Given the description of an element on the screen output the (x, y) to click on. 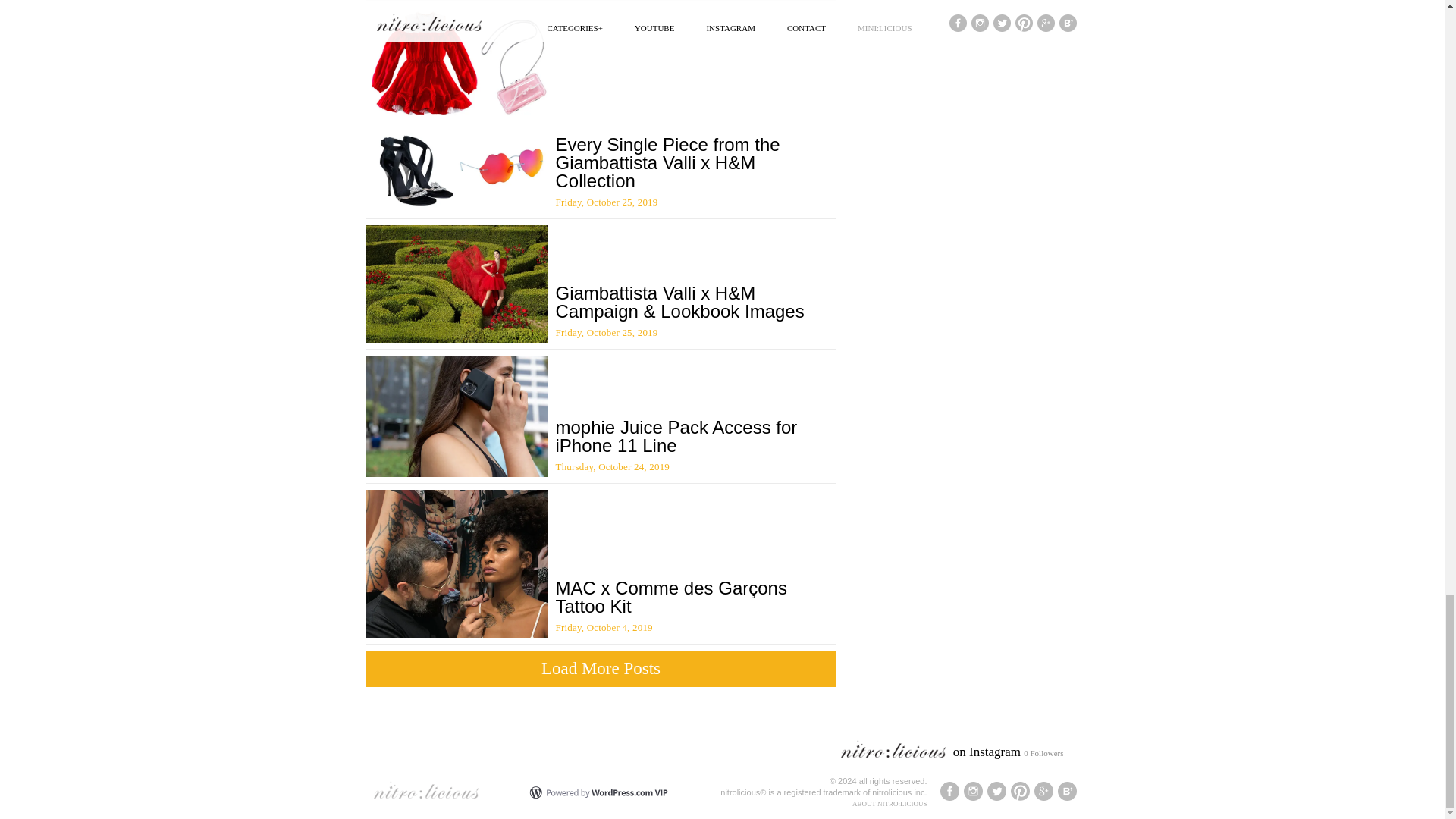
mophie Juice Pack Access for iPhone 11 Line (675, 435)
